Given the description of an element on the screen output the (x, y) to click on. 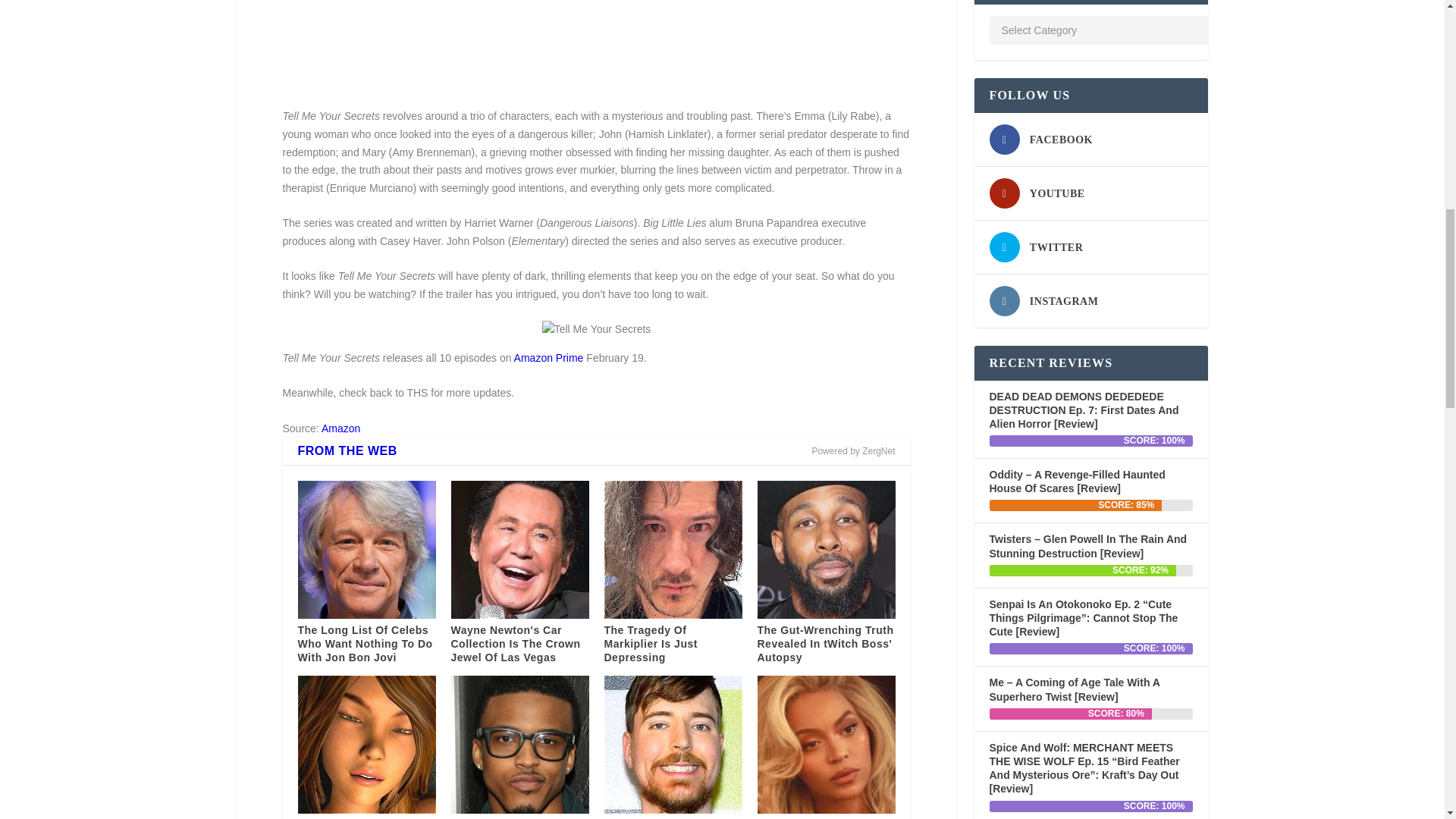
Amazon Prime (548, 357)
Powered by ZergNet (852, 451)
Amazon (340, 428)
